Given the description of an element on the screen output the (x, y) to click on. 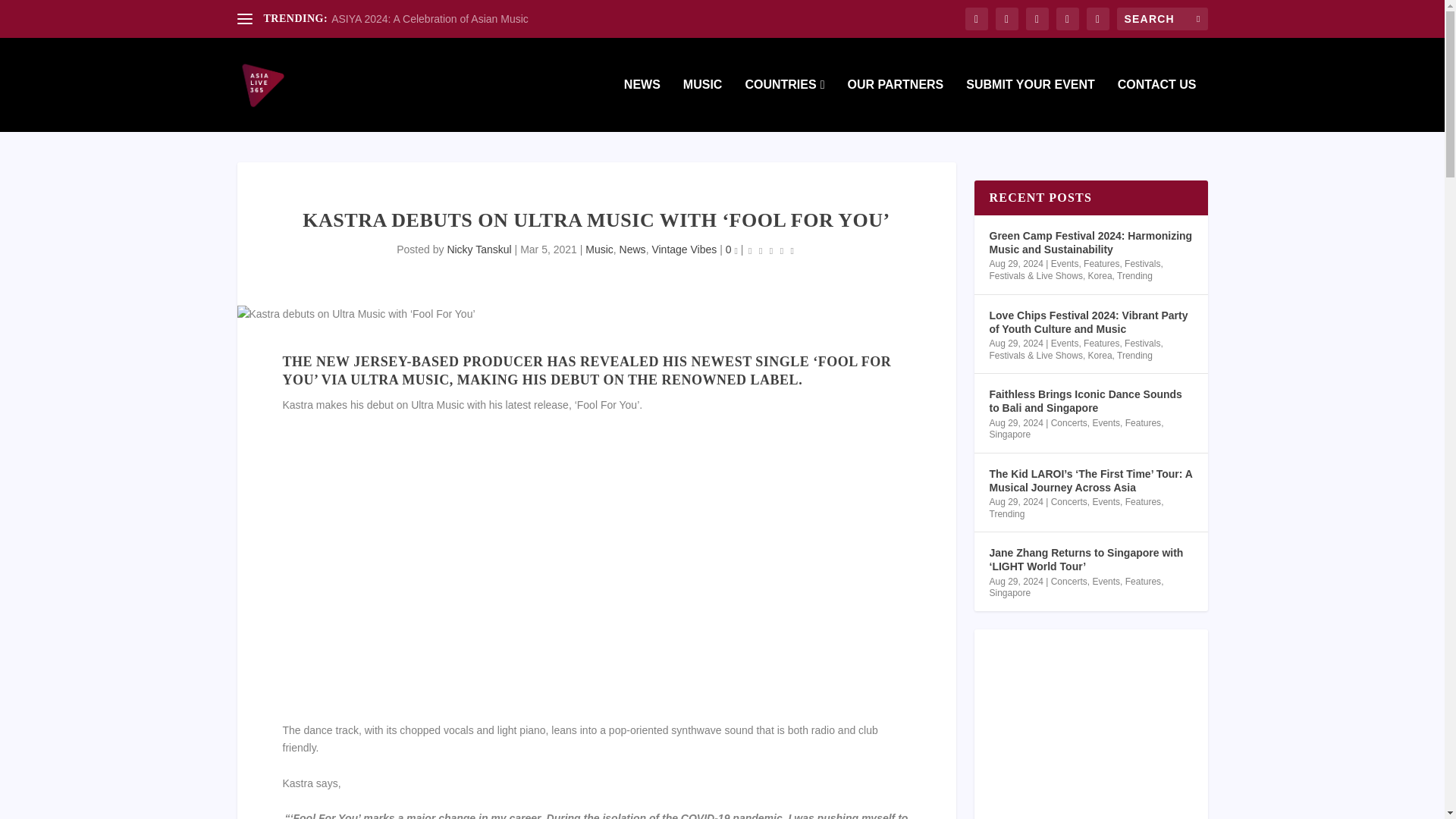
CONTACT US (1157, 104)
News (633, 249)
Vintage Vibes (683, 249)
Music (598, 249)
Posts by Nicky Tanskul (478, 249)
SUBMIT YOUR EVENT (1030, 104)
ASIYA 2024: A Celebration of Asian Music (429, 19)
OUR PARTNERS (895, 104)
Search for: (1161, 18)
